Given the description of an element on the screen output the (x, y) to click on. 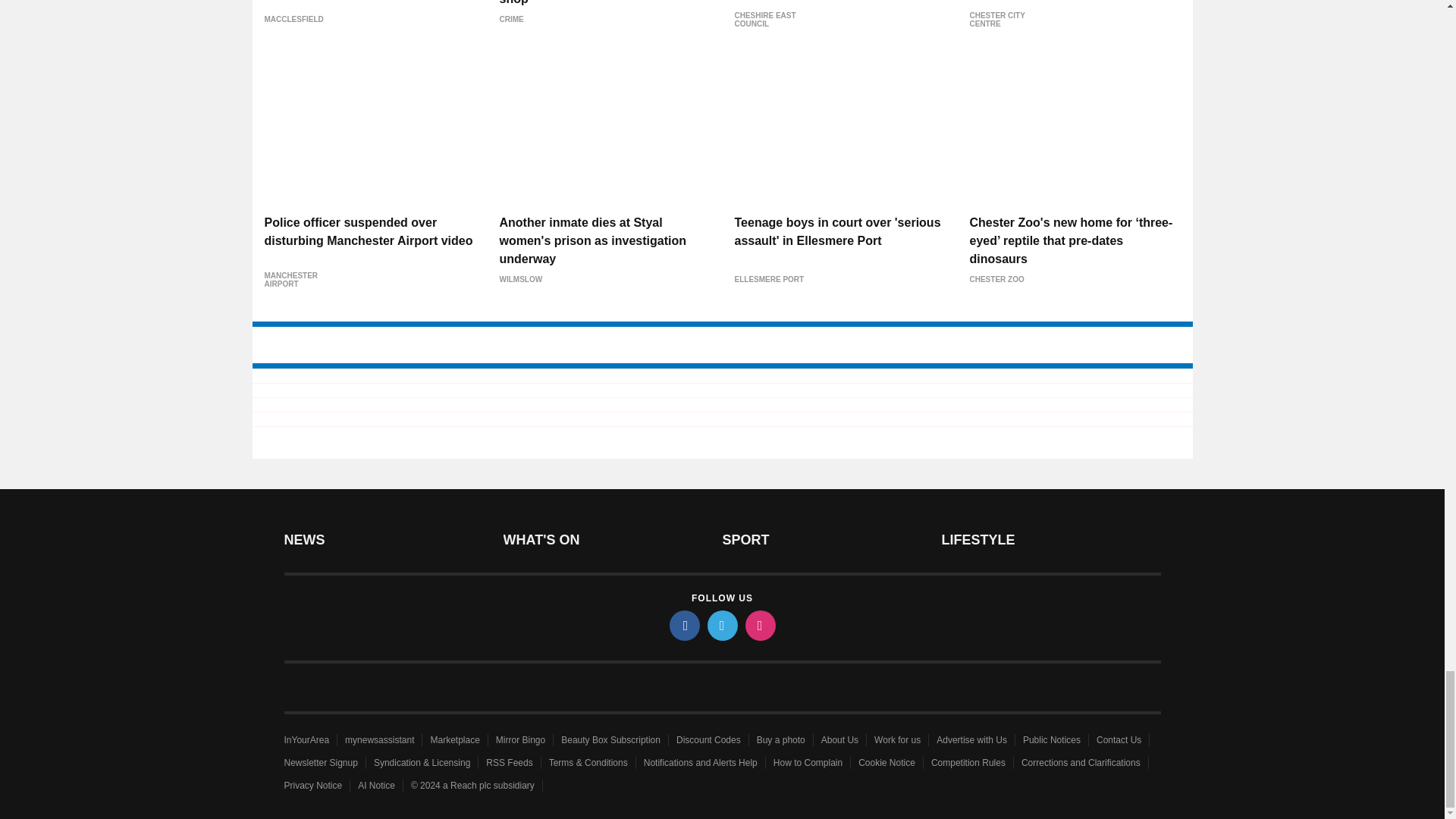
instagram (759, 625)
facebook (683, 625)
twitter (721, 625)
